Given the description of an element on the screen output the (x, y) to click on. 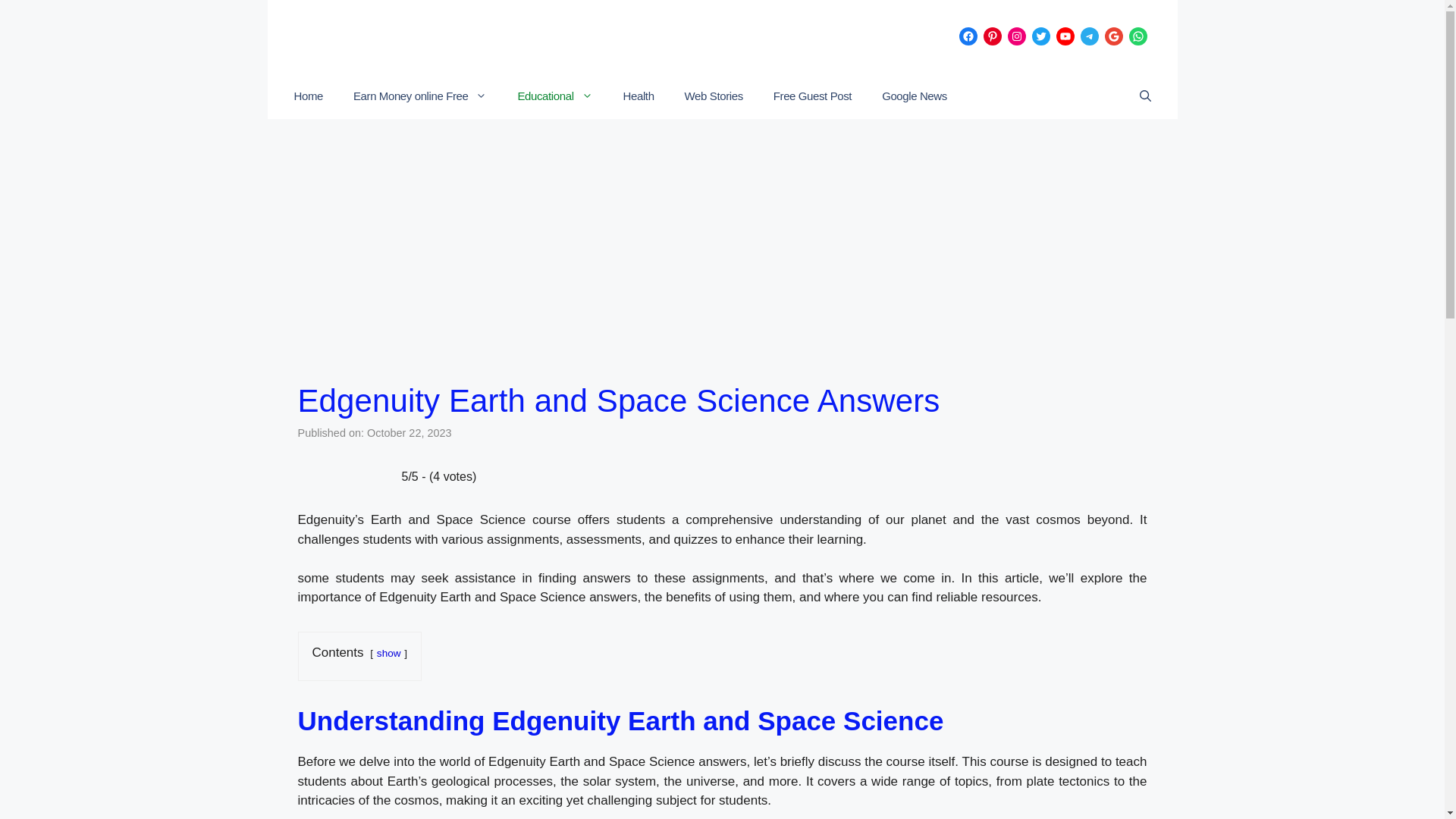
Educational (554, 95)
YouTube (1064, 36)
Web Stories (713, 95)
Pinterest (991, 36)
Google News (914, 95)
Telegram (1088, 36)
Google (1112, 36)
Home (308, 95)
Edgenuity Earth and Space Science Answers 1 (721, 266)
Facebook (967, 36)
Twitter (1039, 36)
Health (638, 95)
Free Guest Post (812, 95)
show (389, 653)
Earn Money online Free (419, 95)
